Given the description of an element on the screen output the (x, y) to click on. 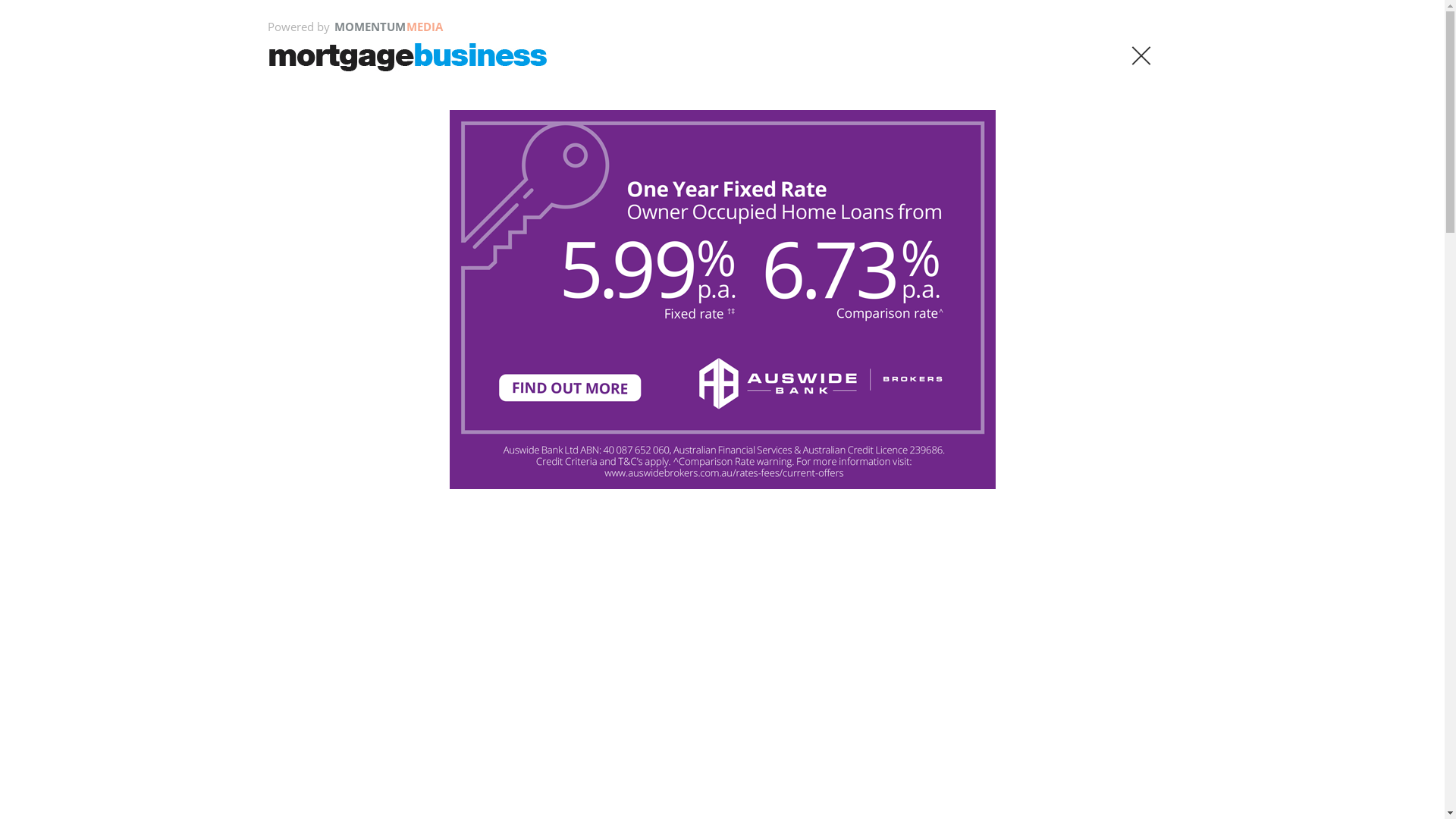
Momentum Media Client Element type: hover (1298, 588)
WEBCAST Element type: text (1059, 265)
Become a free member Element type: text (654, 219)
Register for a free account Element type: text (628, 803)
Momentum Media Client Element type: hover (1044, 482)
NEWS Element type: text (760, 265)
EVENTS Element type: text (1109, 265)
Sign in Element type: text (785, 219)
ADVERTISE Element type: text (980, 219)
Regulation Element type: text (351, 363)
ABOUT Element type: text (926, 219)
PROPERTY Element type: text (556, 312)
JOBS Element type: text (1147, 265)
VIDEO Element type: text (1014, 265)
CONTACT Element type: text (1040, 219)
AGGREGATOR Element type: text (328, 312)
REGULATION Element type: text (736, 312)
Home Element type: text (299, 363)
ANALYSIS Element type: text (862, 265)
ECONOMY Element type: text (478, 312)
Momentum Media Client Element type: hover (145, 588)
INNOVATION Element type: text (958, 312)
POWERED BY MOMENTUM MEDIA Element type: text (384, 221)
TECHNOLOGY Element type: text (642, 312)
PODCASTS Element type: text (966, 265)
OPINION Element type: text (912, 265)
ISCOVER Element type: text (807, 265)
LENDER Element type: text (408, 312)
FINANCE PRODUCTS Element type: text (846, 312)
